Given the description of an element on the screen output the (x, y) to click on. 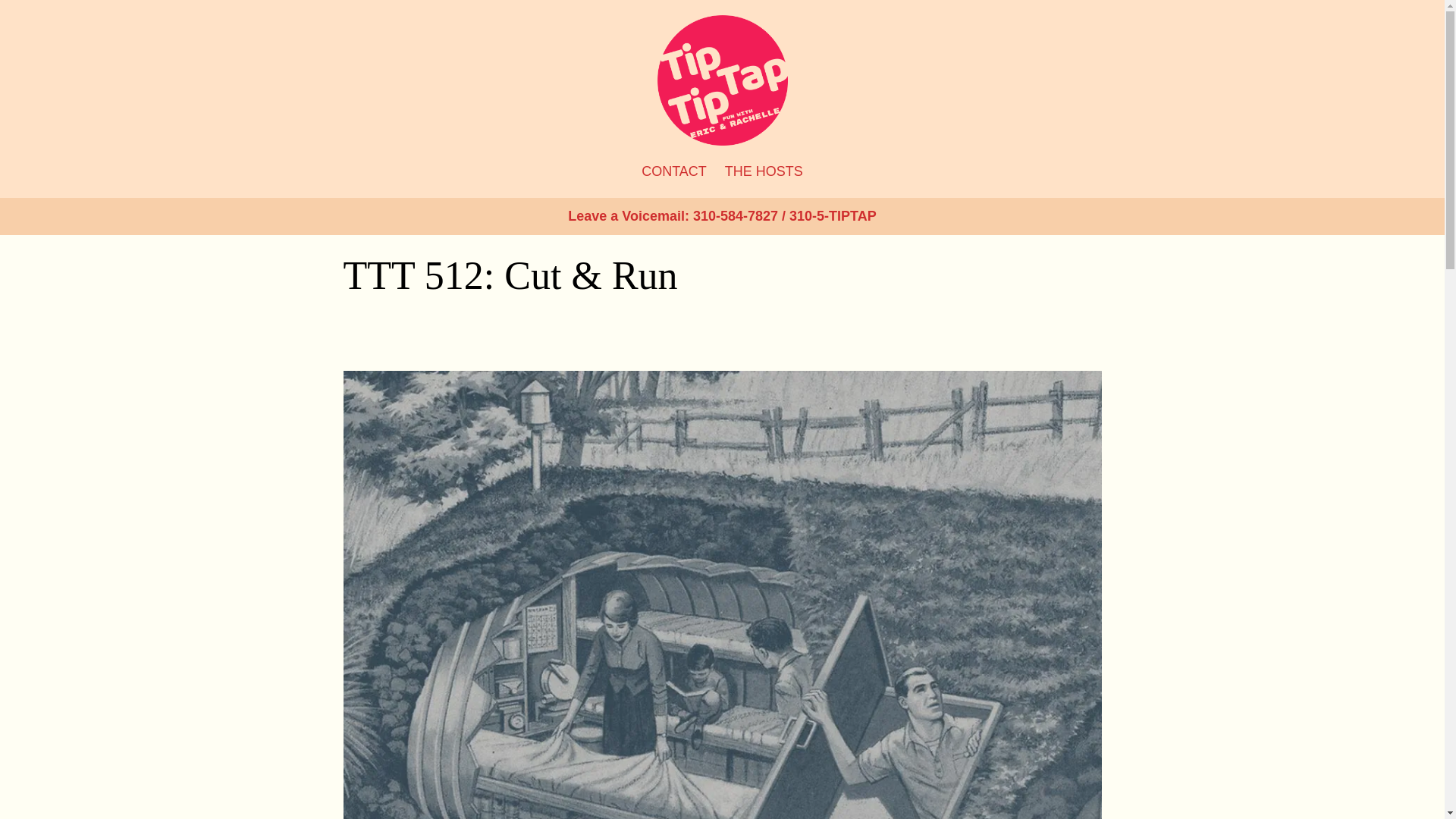
CONTACT (674, 171)
THE HOSTS (764, 171)
